Given the description of an element on the screen output the (x, y) to click on. 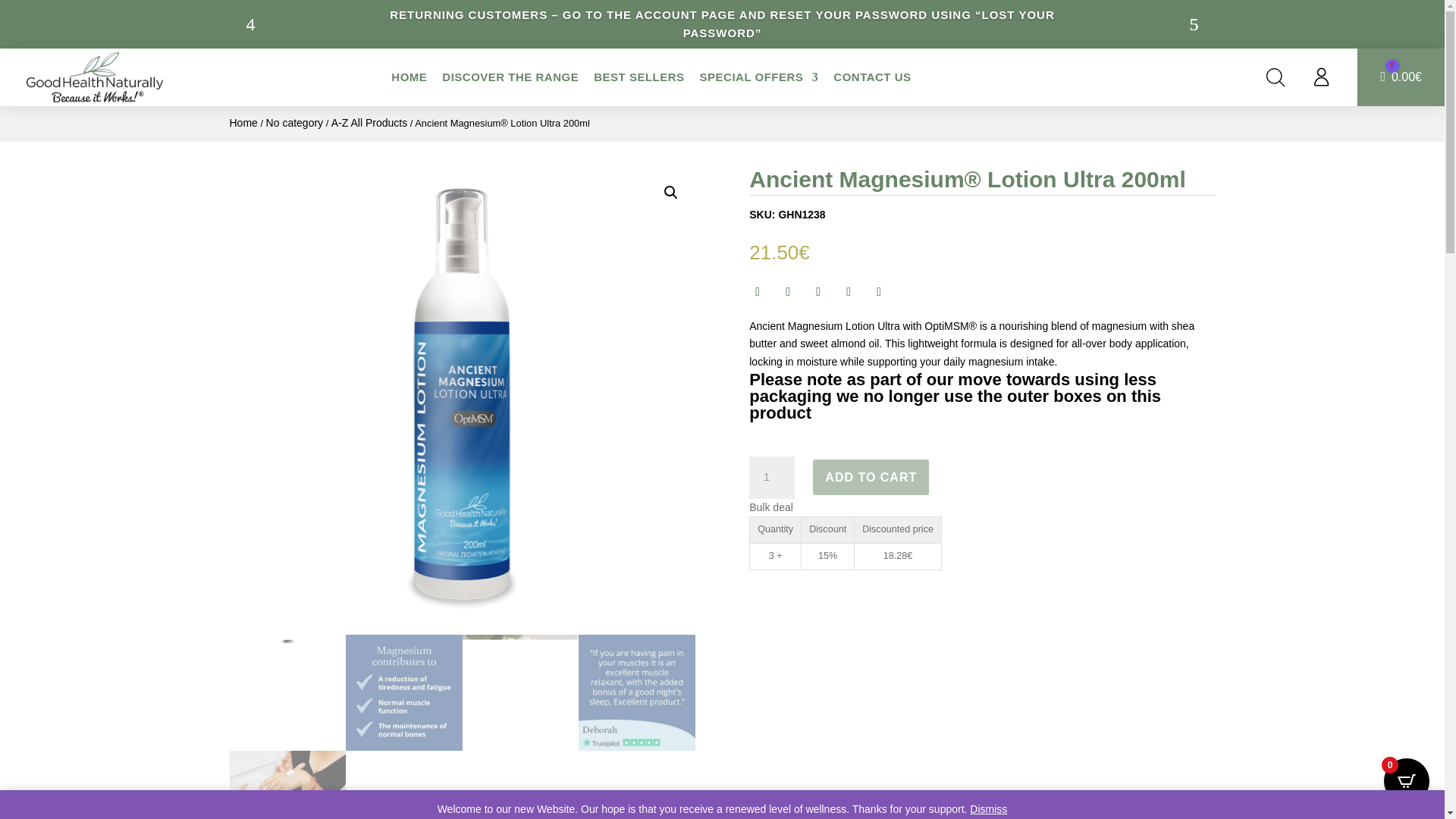
Follow on Facebook (757, 291)
Follow on X (787, 291)
1 (771, 477)
Follow on WhatsApp (878, 291)
user-account (1320, 76)
Follow on Pinterest (847, 291)
Follow on LinkedIn (817, 291)
